Given the description of an element on the screen output the (x, y) to click on. 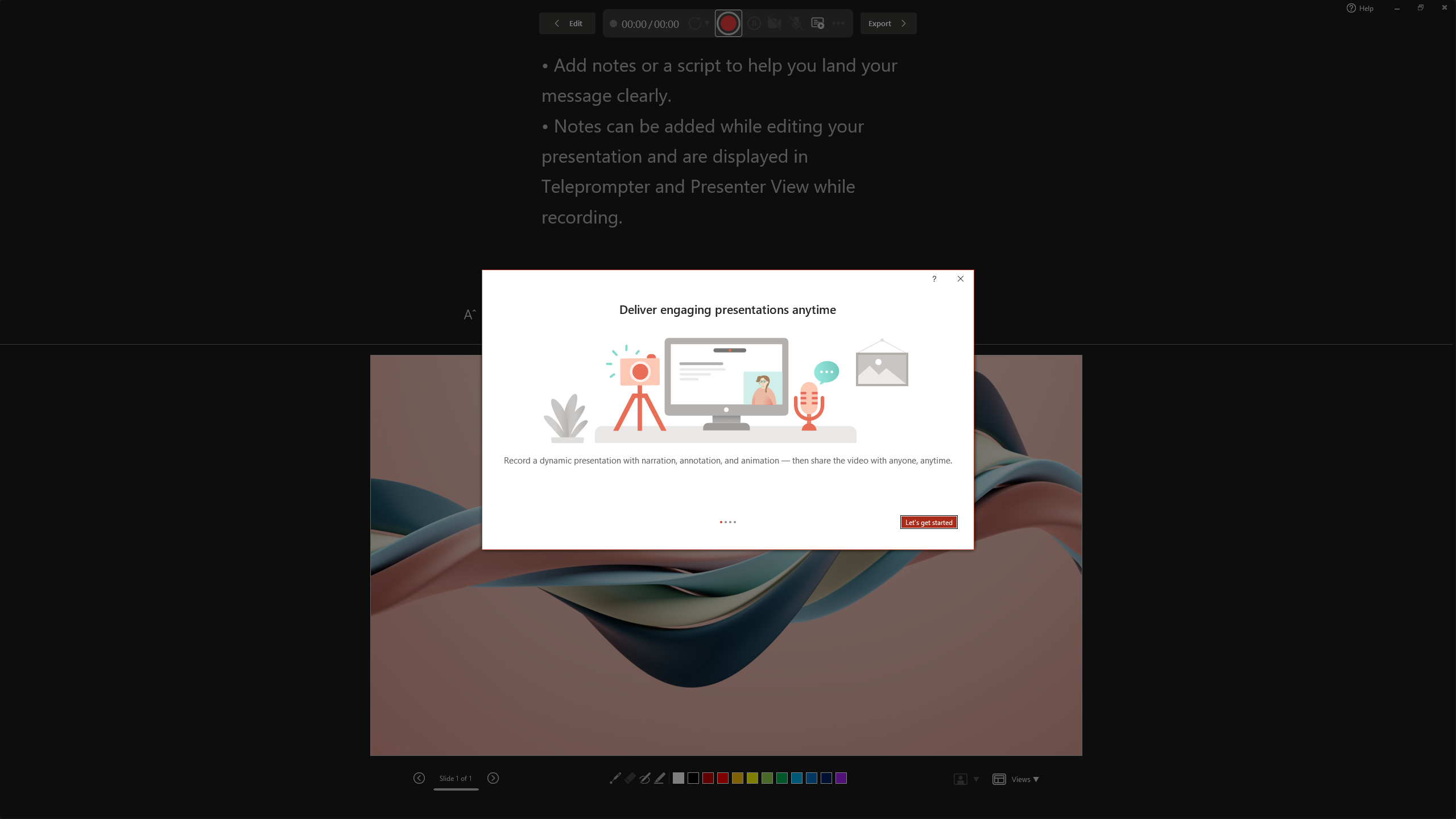
Slide Size (1328, 58)
Banded (614, 56)
Organic (403, 56)
Integral Variant 2 (1164, 56)
Basis (667, 56)
